Given the description of an element on the screen output the (x, y) to click on. 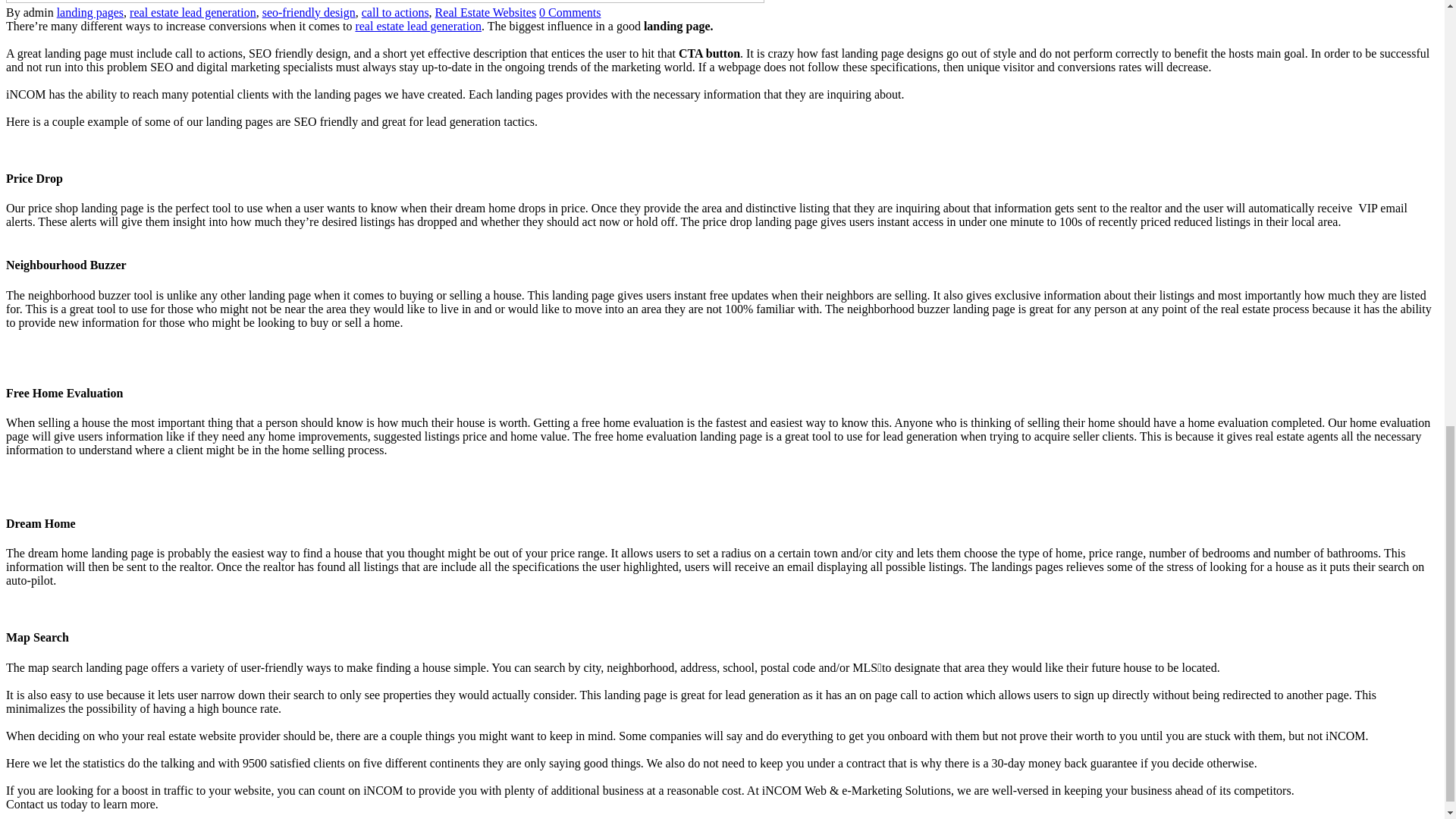
real estate lead generation (192, 11)
landing pages (89, 11)
seo-friendly design (308, 11)
